Given the description of an element on the screen output the (x, y) to click on. 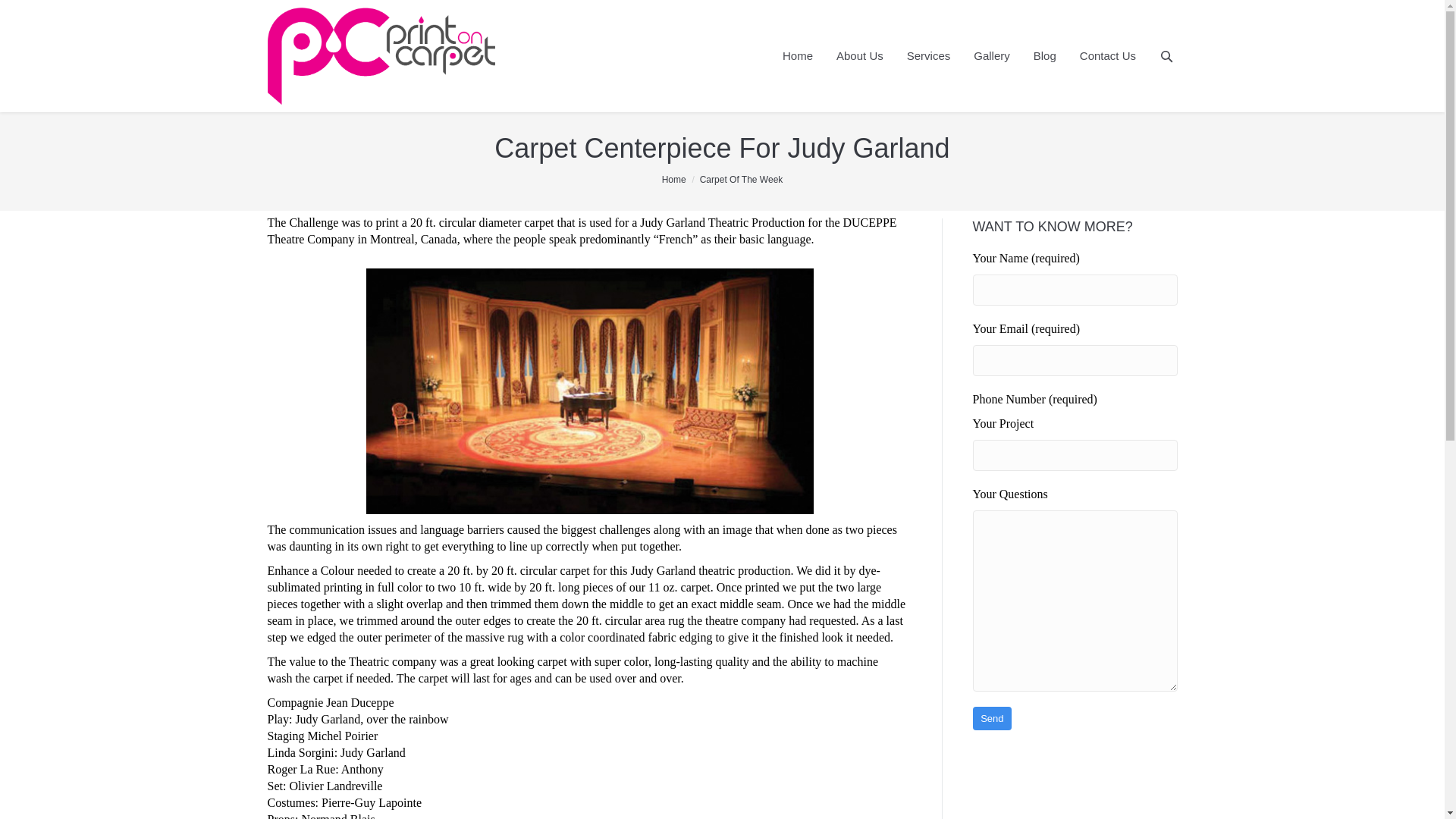
Send (991, 718)
Services (928, 55)
Home (797, 55)
Go! (16, 11)
Send (991, 718)
About Us (859, 55)
Gallery (991, 55)
Contact Us (1107, 55)
Carpet Of The Week (741, 179)
Home (673, 179)
